Given the description of an element on the screen output the (x, y) to click on. 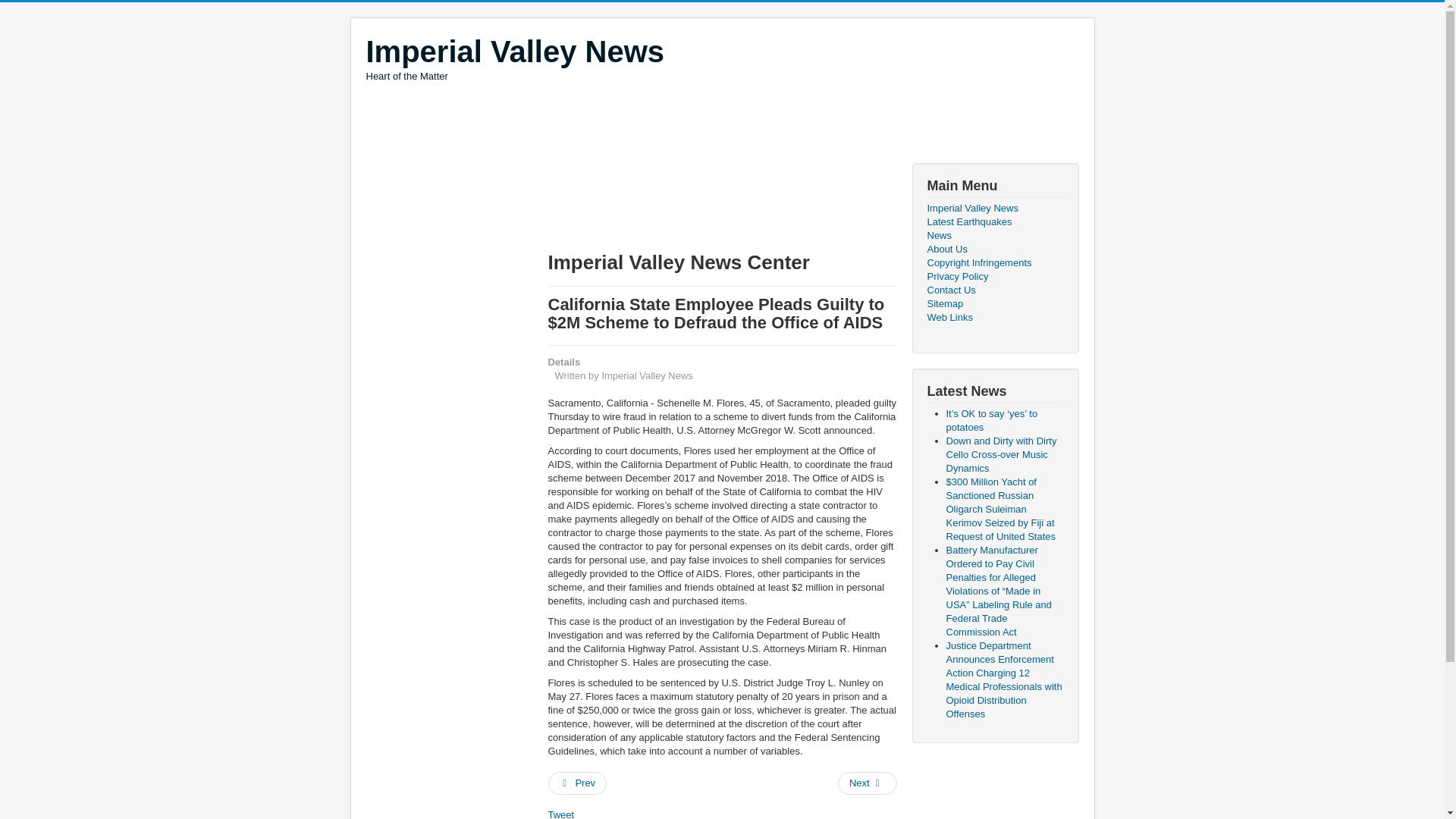
Sitemap (994, 304)
Prev (577, 783)
Imperial Valley News (994, 208)
Imperial Valley News (514, 51)
Privacy Policy (994, 276)
News (994, 235)
Latest Earthquakes (994, 222)
Down and Dirty with Dirty Cello Cross-over Music Dynamics (1001, 454)
About Us (994, 249)
Advertisement (641, 124)
Web Links (514, 58)
Tweet (994, 317)
Next (560, 814)
